Given the description of an element on the screen output the (x, y) to click on. 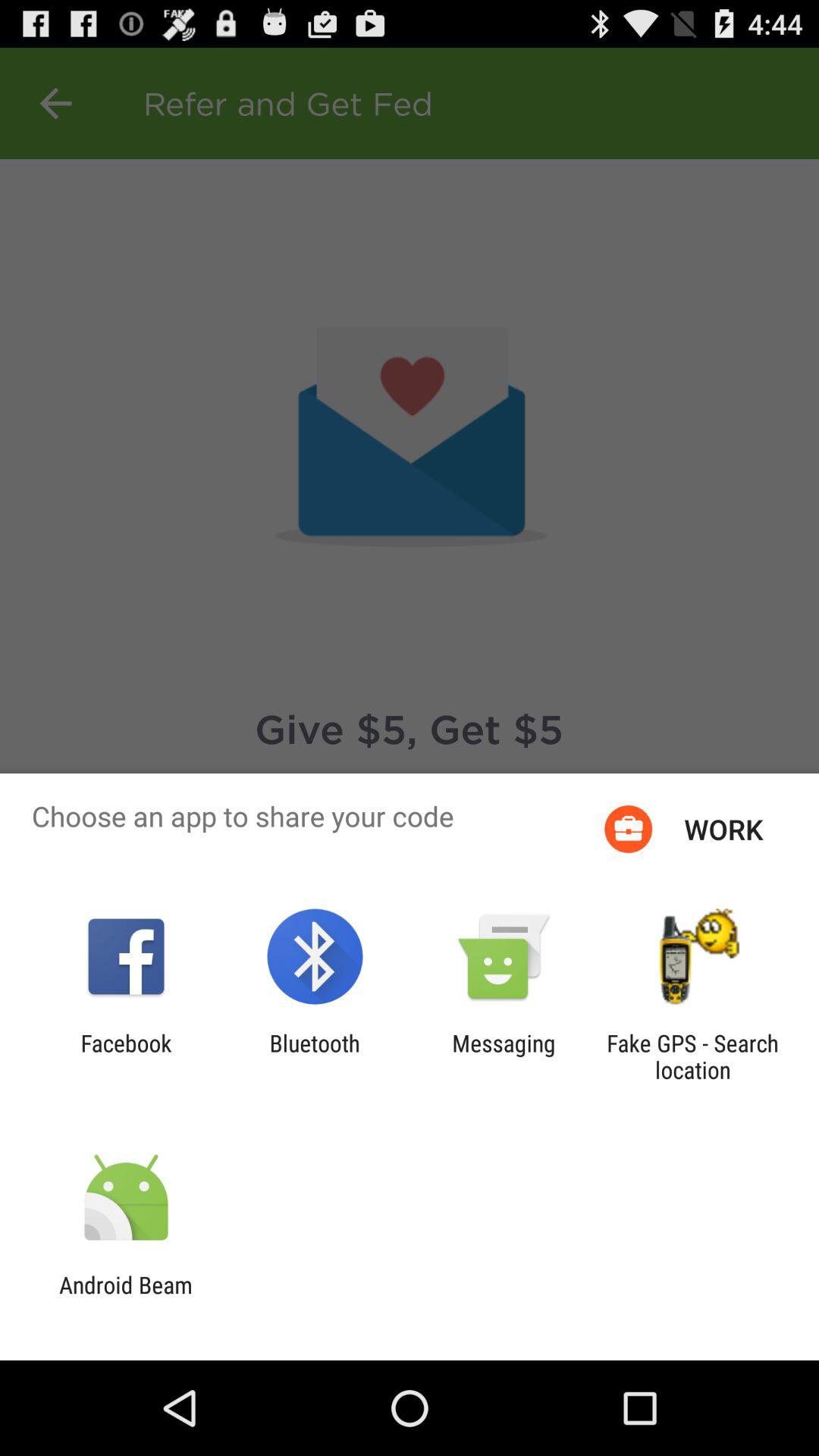
open the icon to the right of messaging (692, 1056)
